Given the description of an element on the screen output the (x, y) to click on. 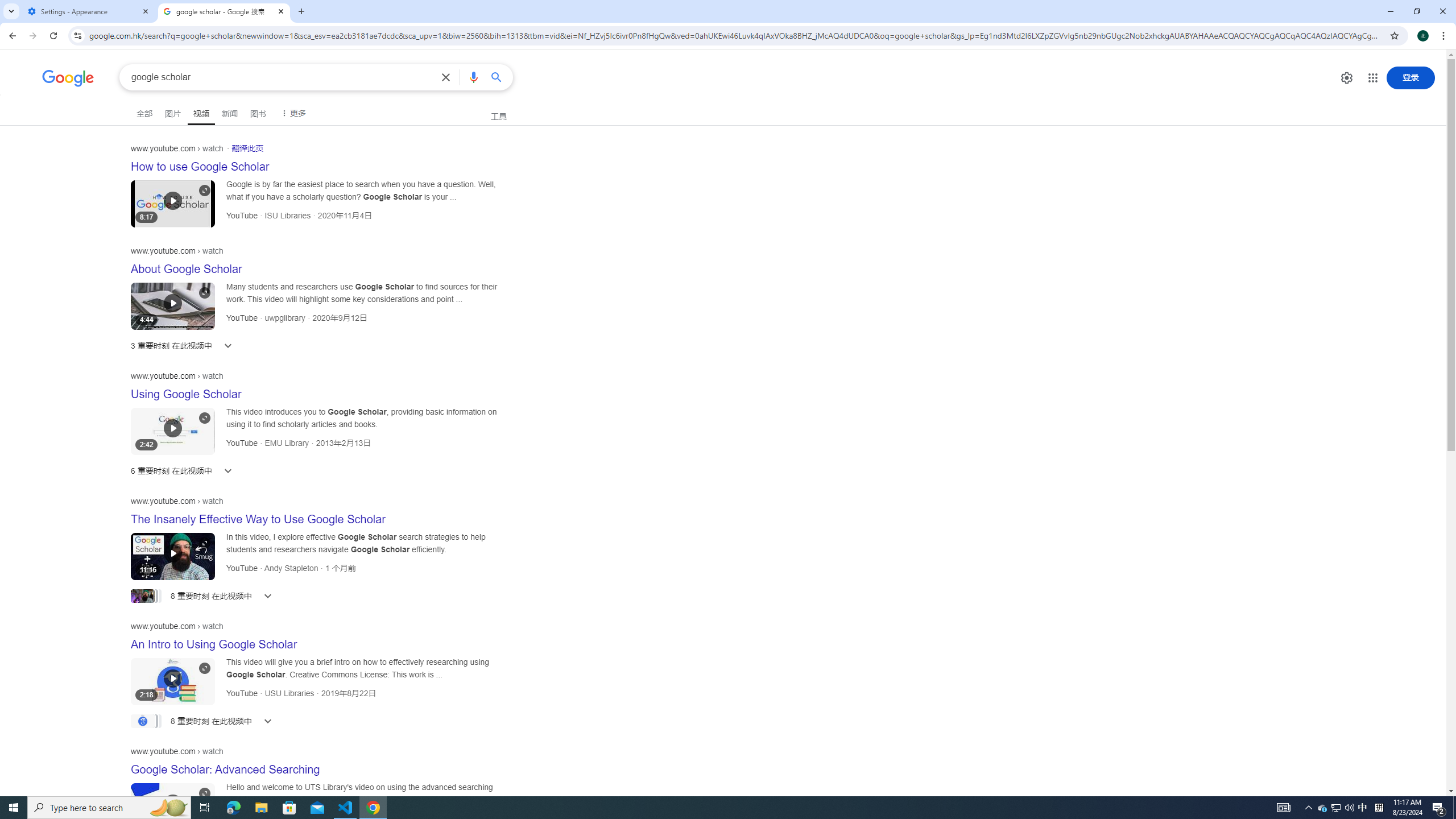
Settings - Appearance (88, 11)
